Given the description of an element on the screen output the (x, y) to click on. 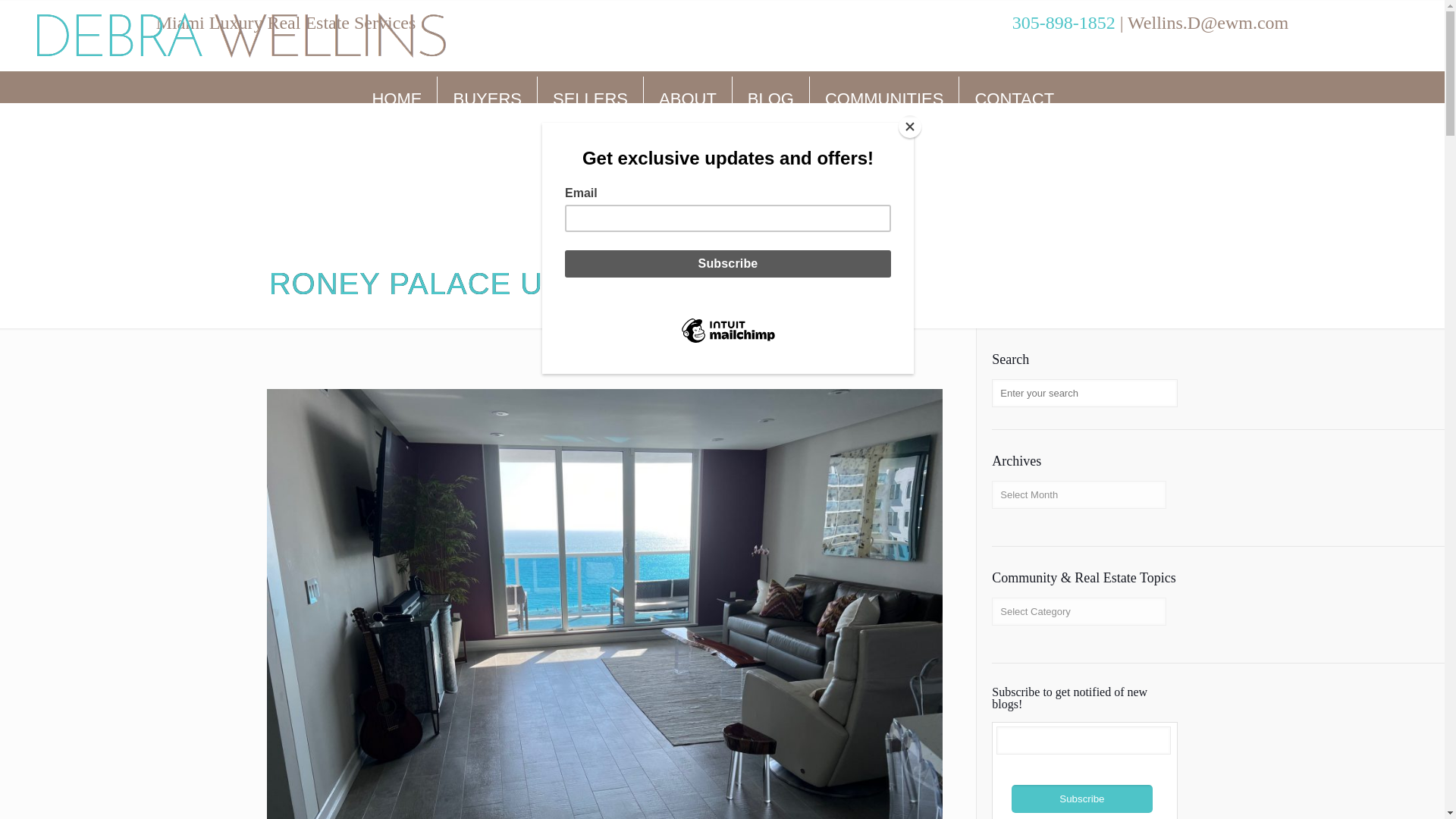
Subscribe (1082, 798)
BLOG (770, 99)
HOME (397, 99)
ABOUT (687, 99)
BUYERS (487, 99)
SELLERS (590, 99)
